Given the description of an element on the screen output the (x, y) to click on. 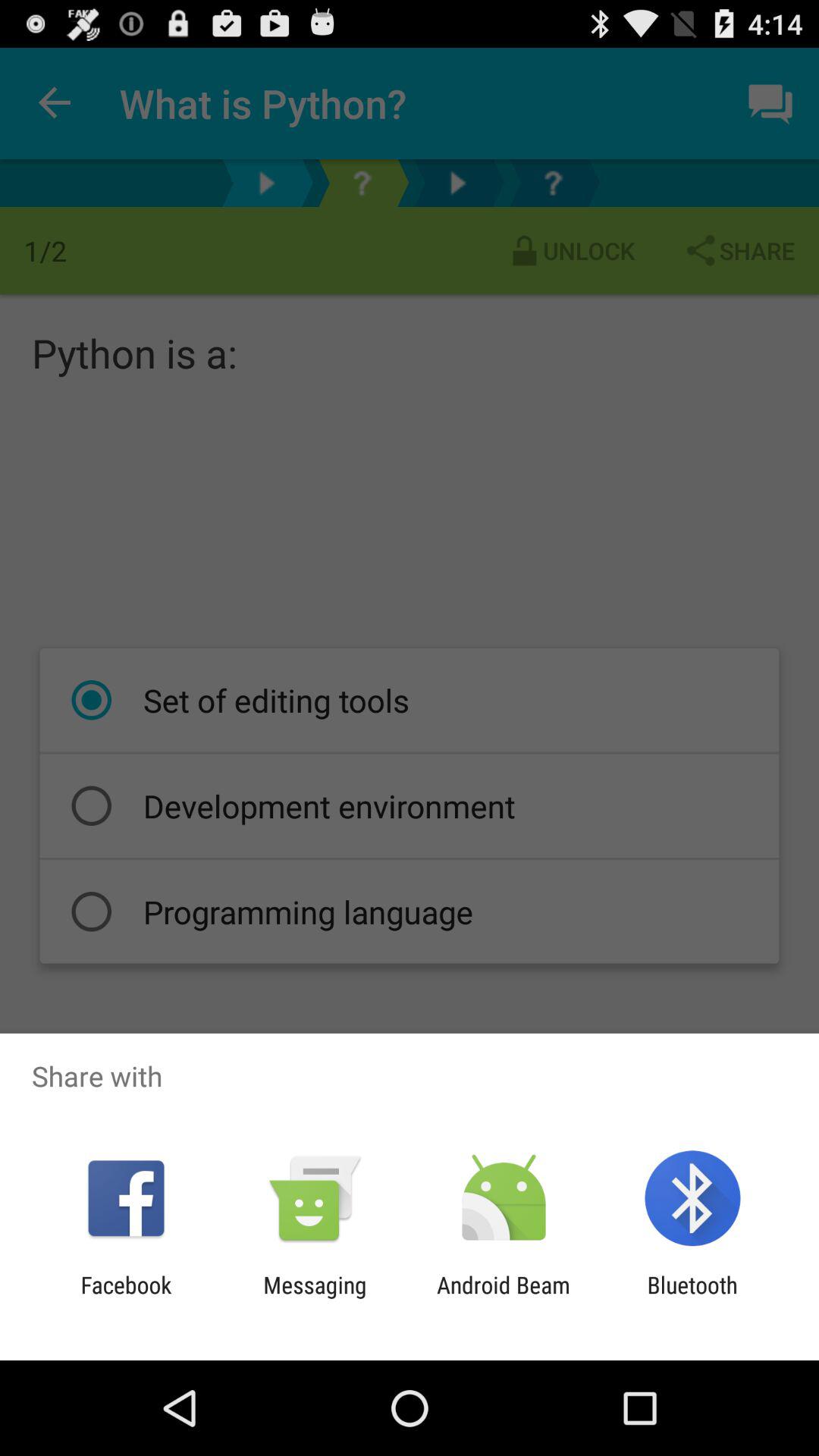
select app next to bluetooth app (503, 1298)
